Given the description of an element on the screen output the (x, y) to click on. 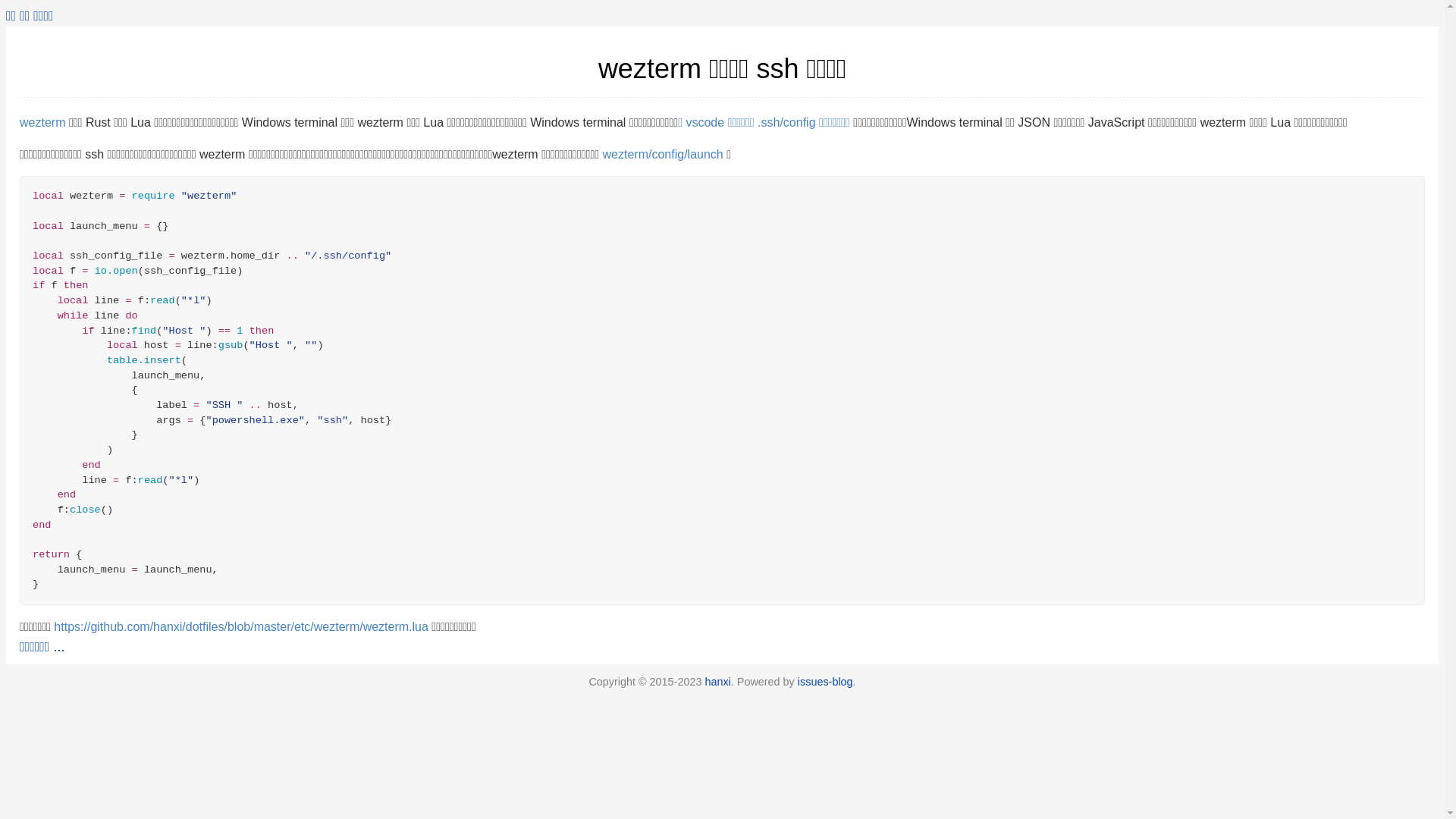
wezterm Element type: text (42, 122)
wezterm/config/launch Element type: text (662, 153)
issues-blog Element type: text (825, 681)
hanxi Element type: text (717, 681)
